Given the description of an element on the screen output the (x, y) to click on. 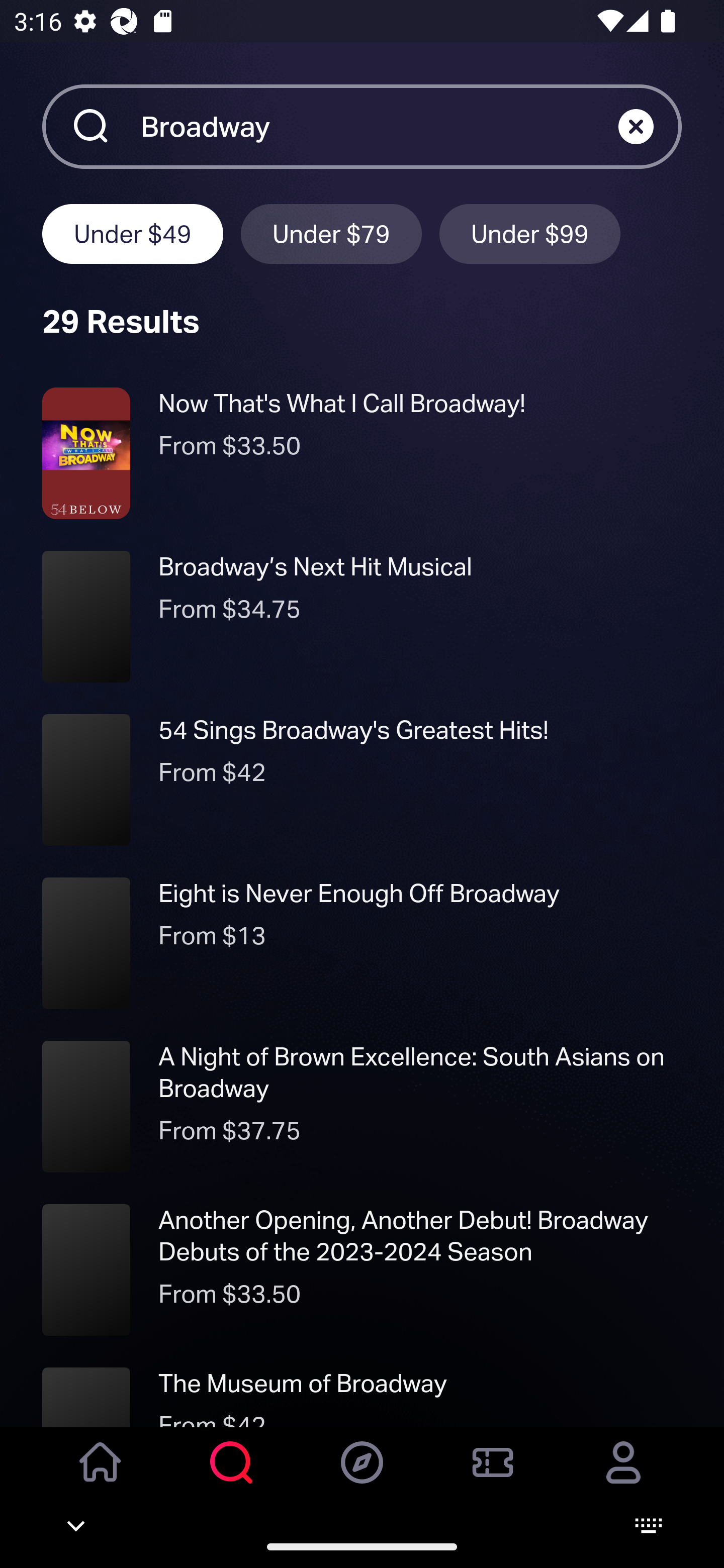
Broadway (379, 126)
Under $49 (131, 233)
Under $79 (331, 233)
Under $99 (529, 233)
Home (100, 1475)
Discover (361, 1475)
Orders (492, 1475)
Account (623, 1475)
